Given the description of an element on the screen output the (x, y) to click on. 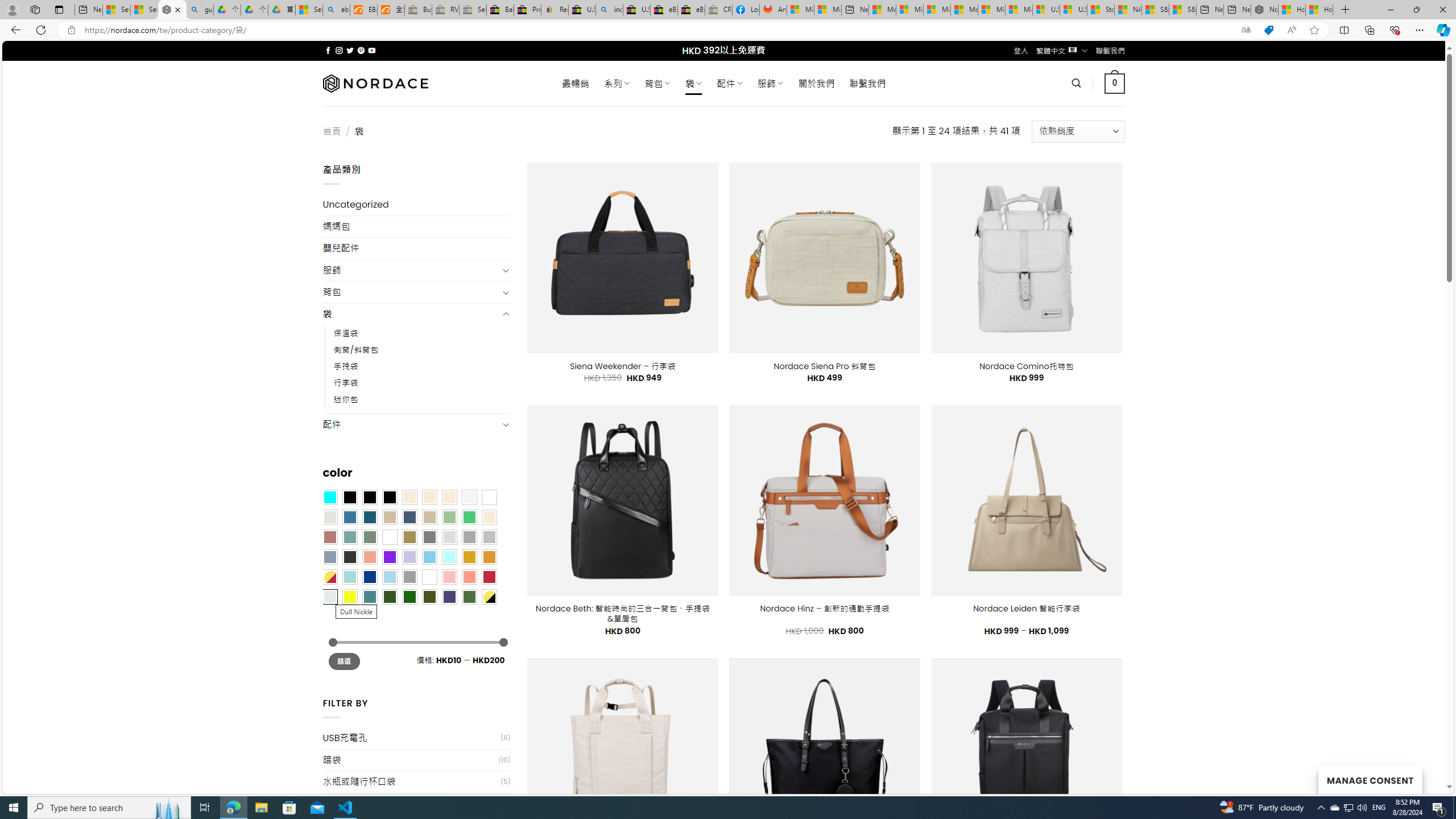
Dull Nickle (329, 596)
